Given the description of an element on the screen output the (x, y) to click on. 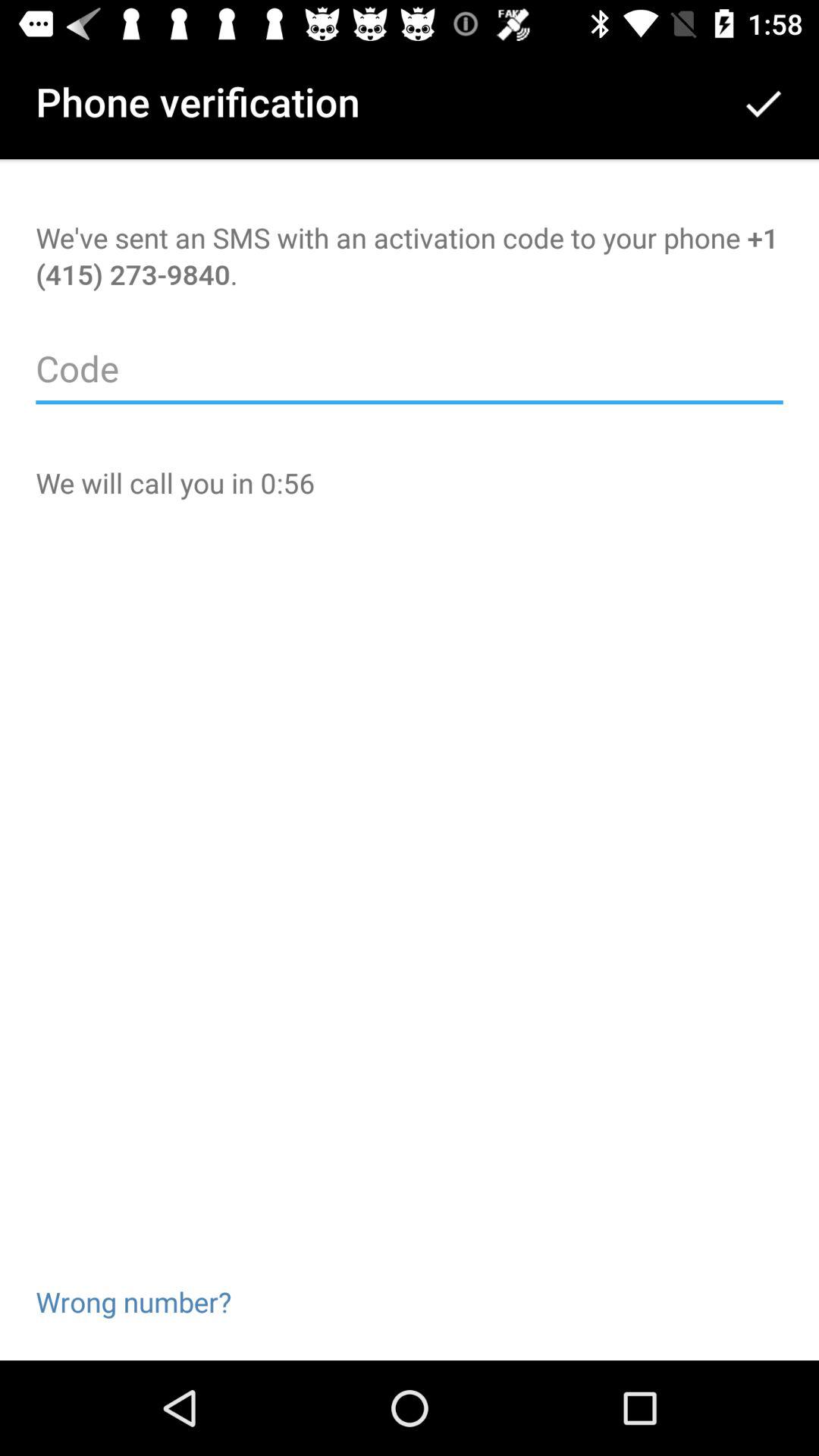
open the wrong number? item (133, 1277)
